Given the description of an element on the screen output the (x, y) to click on. 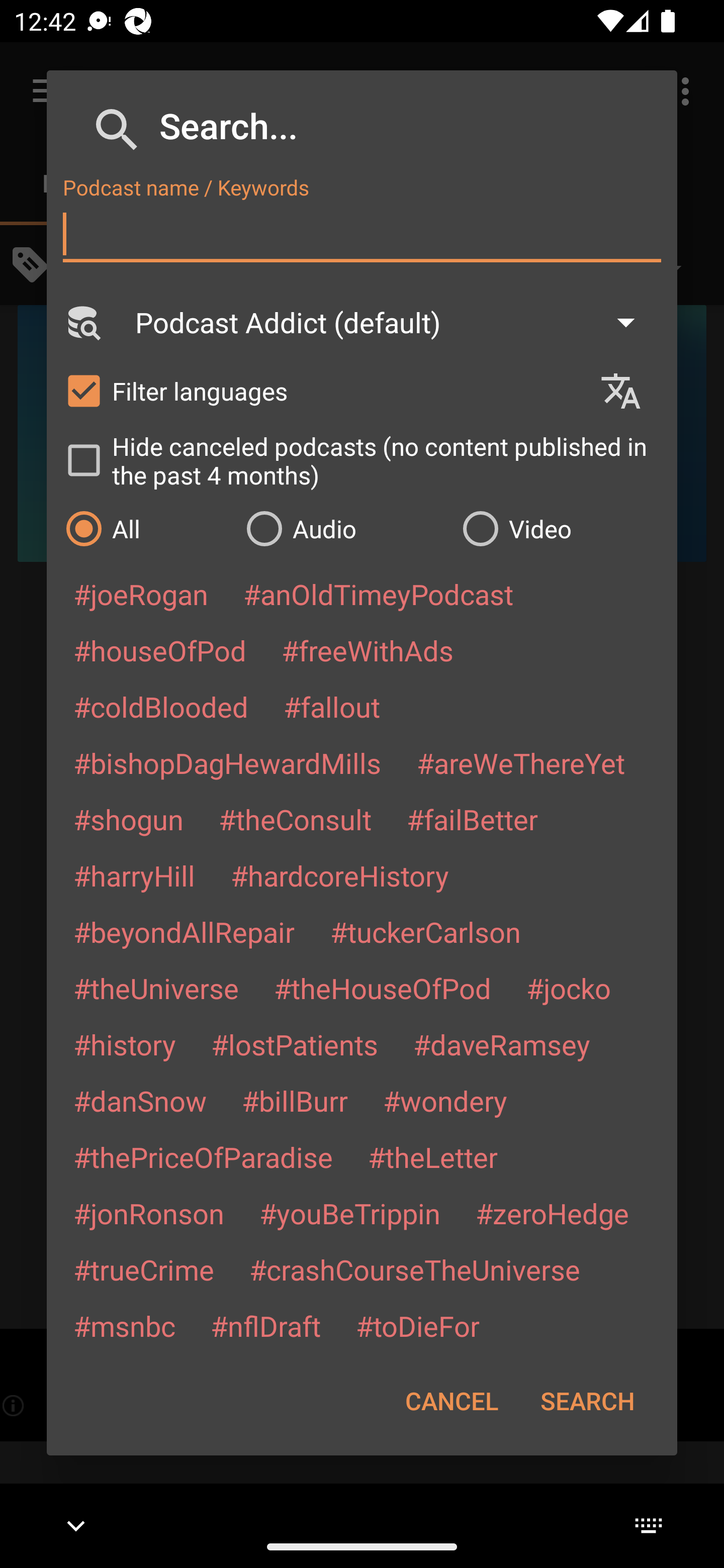
Podcast name / Keywords (361, 234)
Search Engine (82, 322)
Podcast Addict (default) (394, 322)
Languages selection (629, 390)
Filter languages (322, 390)
All (145, 528)
Audio (344, 528)
Video (560, 528)
#joeRogan (140, 594)
#anOldTimeyPodcast (378, 594)
#houseOfPod (159, 650)
#freeWithAds (367, 650)
#coldBlooded (160, 705)
#fallout (331, 705)
#bishopDagHewardMills (227, 762)
#areWeThereYet (521, 762)
#shogun (128, 818)
#theConsult (294, 818)
#failBetter (471, 818)
#harryHill (134, 875)
#hardcoreHistory (339, 875)
#beyondAllRepair (184, 931)
#tuckerCarlson (425, 931)
#theUniverse (155, 987)
#theHouseOfPod (381, 987)
#jocko (568, 987)
#history (124, 1044)
#lostPatients (294, 1044)
#daveRamsey (501, 1044)
#danSnow (139, 1100)
#billBurr (294, 1100)
#wondery (444, 1100)
#thePriceOfParadise (203, 1157)
#theLetter (432, 1157)
#jonRonson (148, 1213)
#youBeTrippin (349, 1213)
#zeroHedge (552, 1213)
#trueCrime (143, 1268)
#crashCourseTheUniverse (414, 1268)
#msnbc (124, 1325)
#nflDraft (265, 1325)
#toDieFor (417, 1325)
CANCEL (451, 1400)
SEARCH (587, 1400)
